Given the description of an element on the screen output the (x, y) to click on. 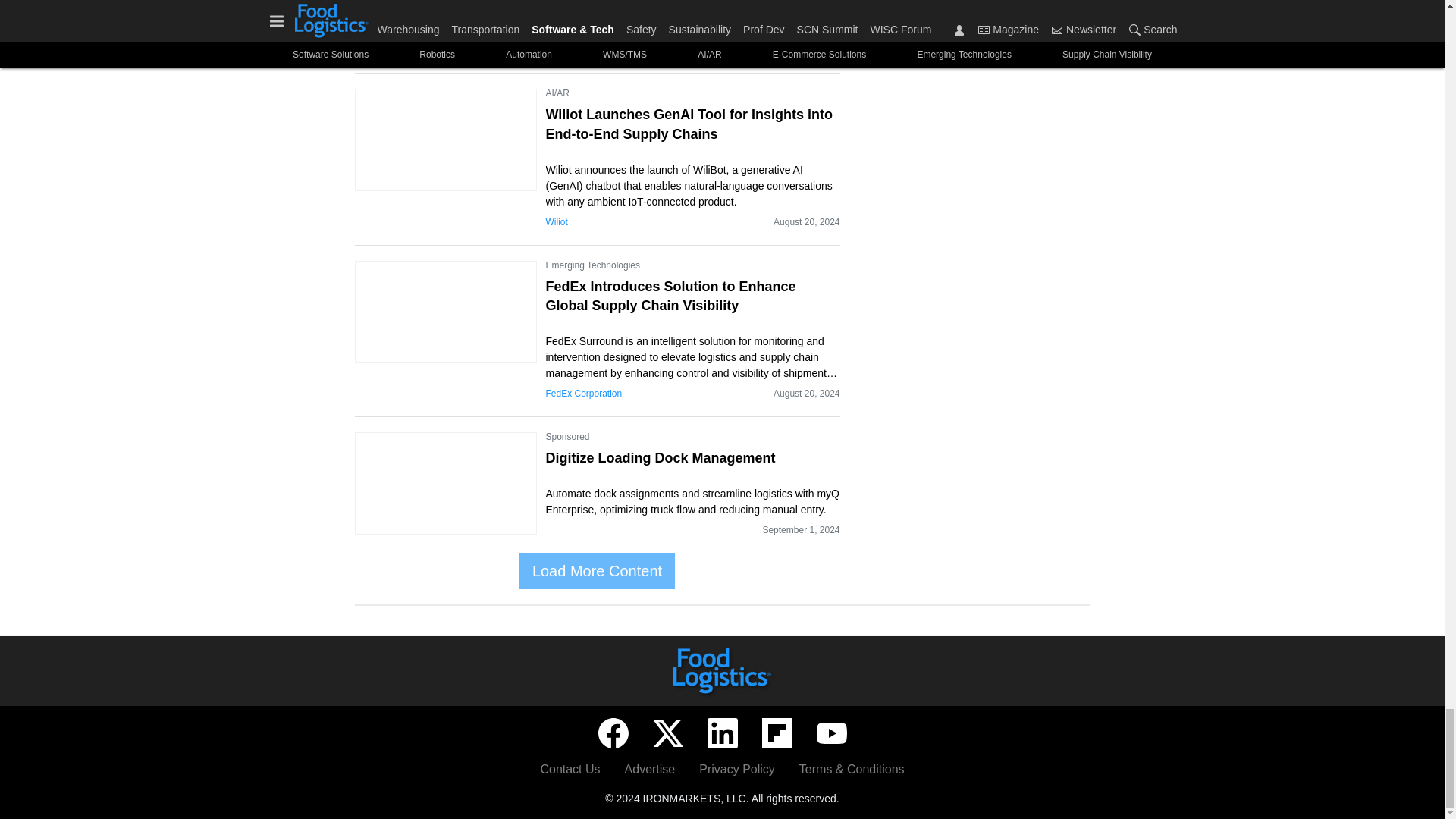
Twitter X icon (667, 733)
YouTube icon (830, 733)
Flipboard icon (776, 733)
LinkedIn icon (721, 733)
Facebook icon (611, 733)
